Given the description of an element on the screen output the (x, y) to click on. 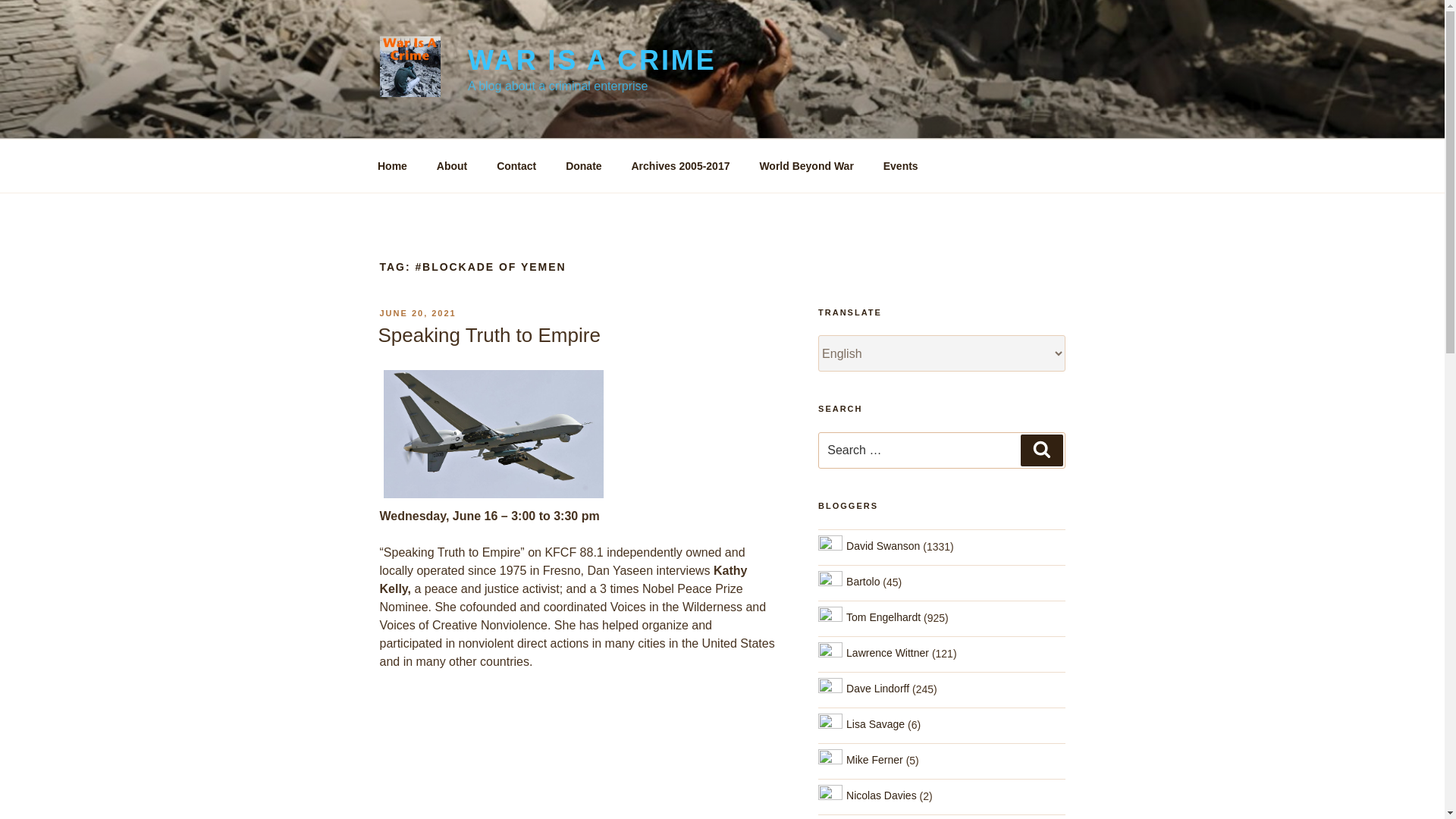
Posts by Bartolo (862, 581)
Search (1041, 450)
Lawrence Wittner (886, 653)
David Swanson (882, 545)
Posts by David Swanson (882, 545)
World Beyond War (805, 165)
About (451, 165)
Home (392, 165)
Donate (583, 165)
Posts by Dave Lindorff (876, 688)
Mike Ferner (873, 759)
Events (900, 165)
Posts by Lisa Savage (874, 724)
Posts by Lawrence Wittner (886, 653)
